Given the description of an element on the screen output the (x, y) to click on. 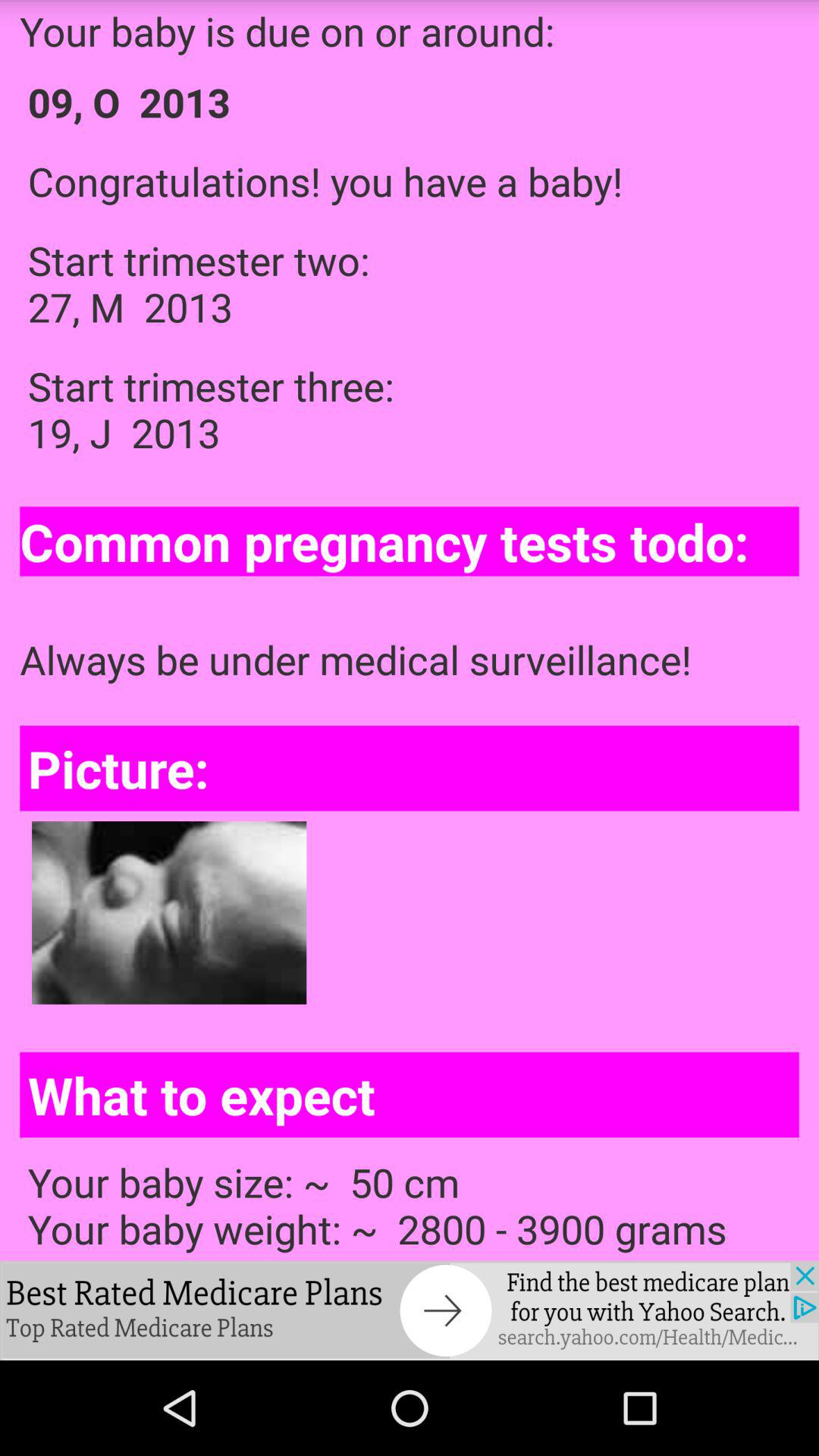
notifications (409, 1310)
